Given the description of an element on the screen output the (x, y) to click on. 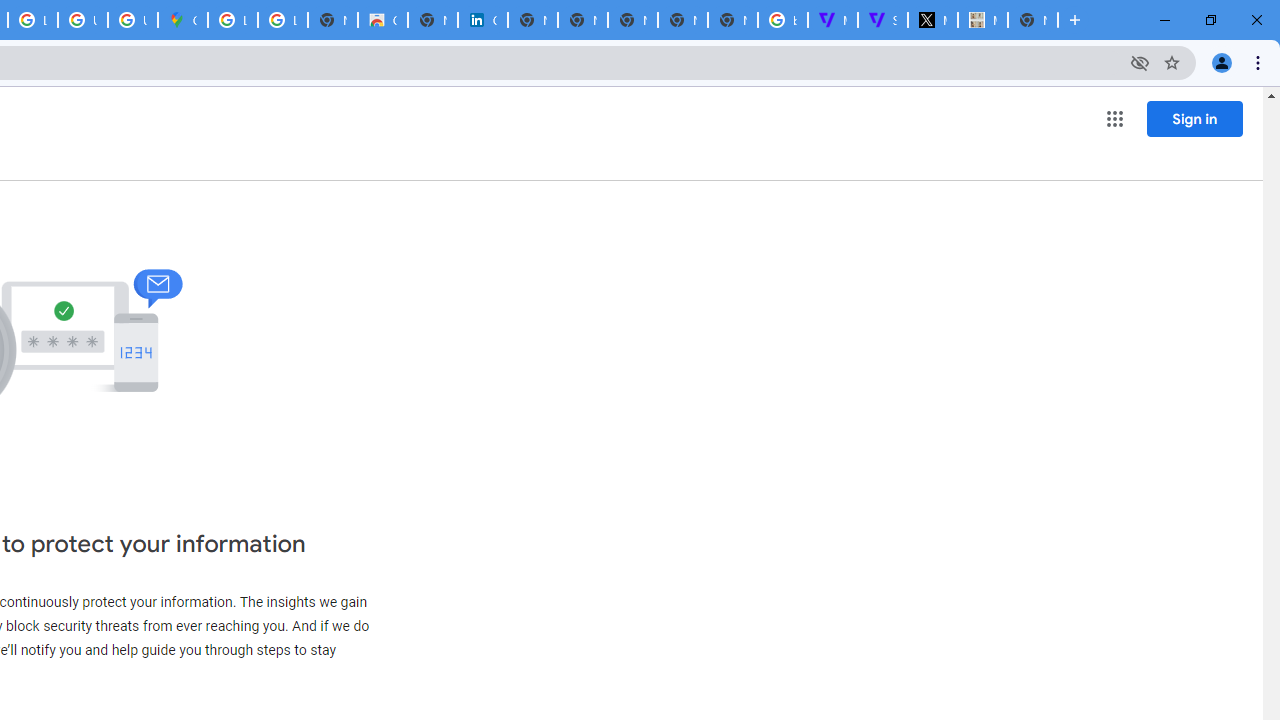
New Tab (1032, 20)
Google Maps (182, 20)
New Tab (732, 20)
Chrome Web Store (383, 20)
